Given the description of an element on the screen output the (x, y) to click on. 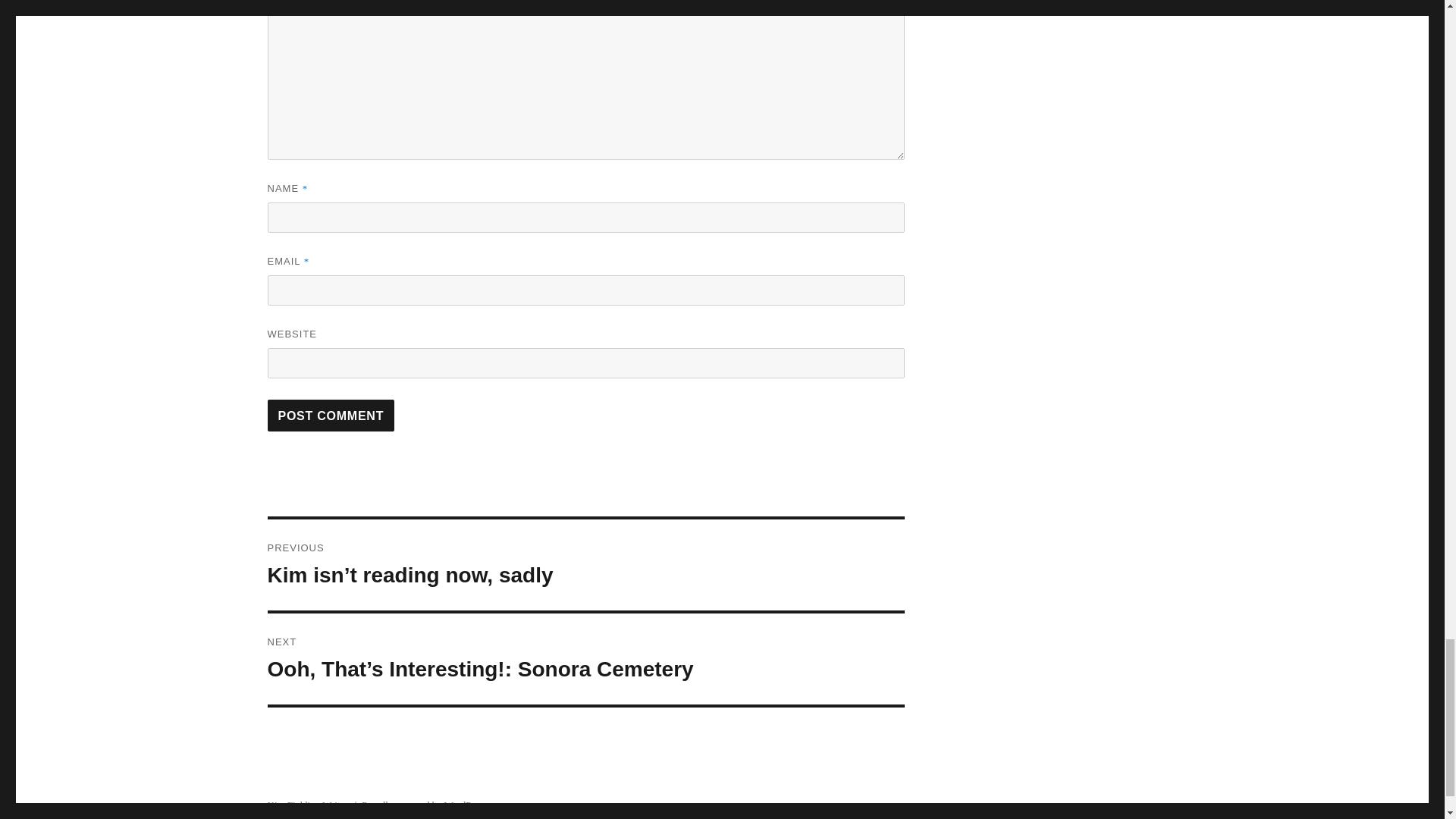
Post Comment (330, 415)
